Given the description of an element on the screen output the (x, y) to click on. 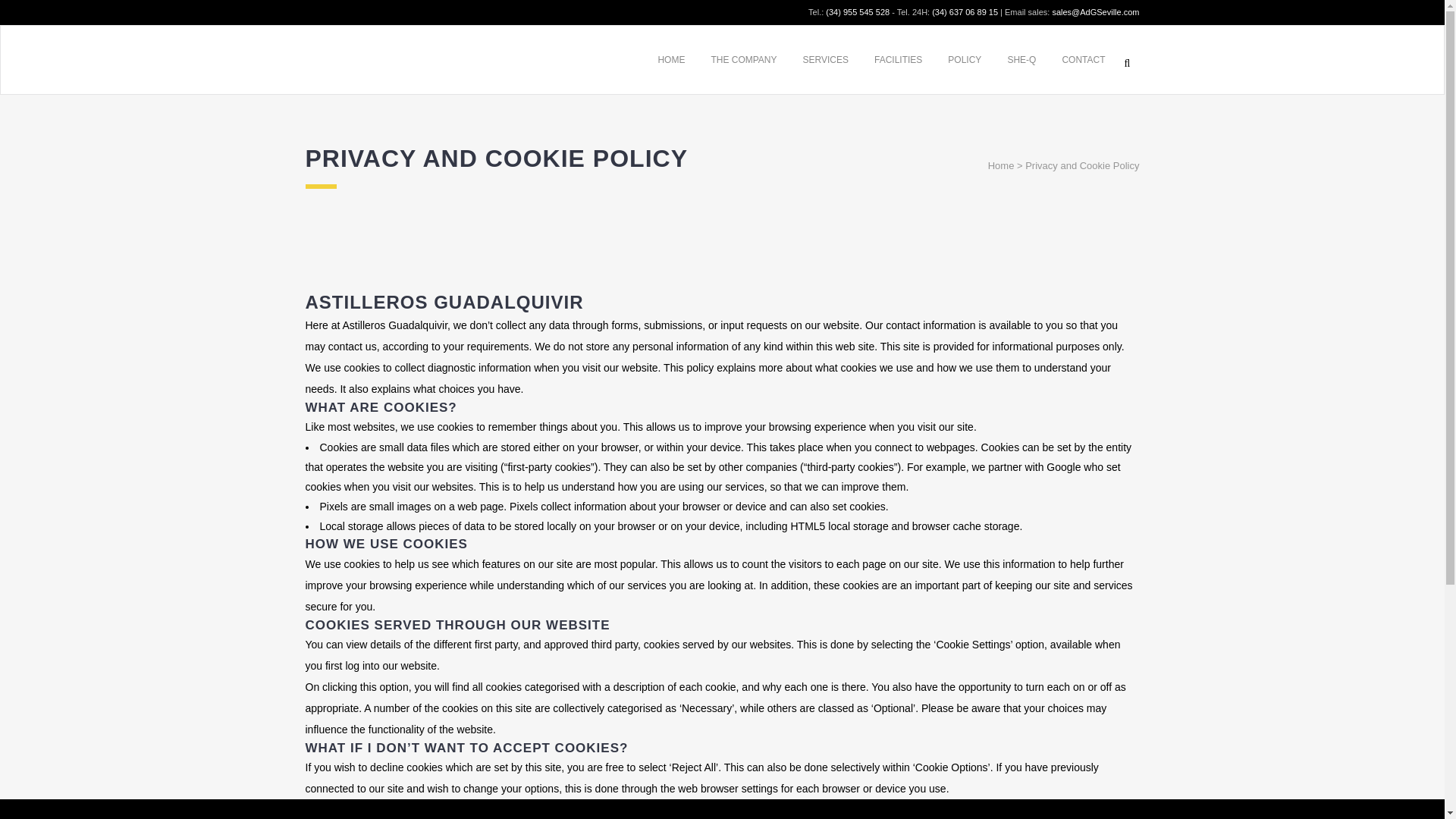
FACILITIES (897, 59)
Home (1001, 165)
CONTACT (1083, 59)
SERVICES (825, 59)
THE COMPANY (743, 59)
